Given the description of an element on the screen output the (x, y) to click on. 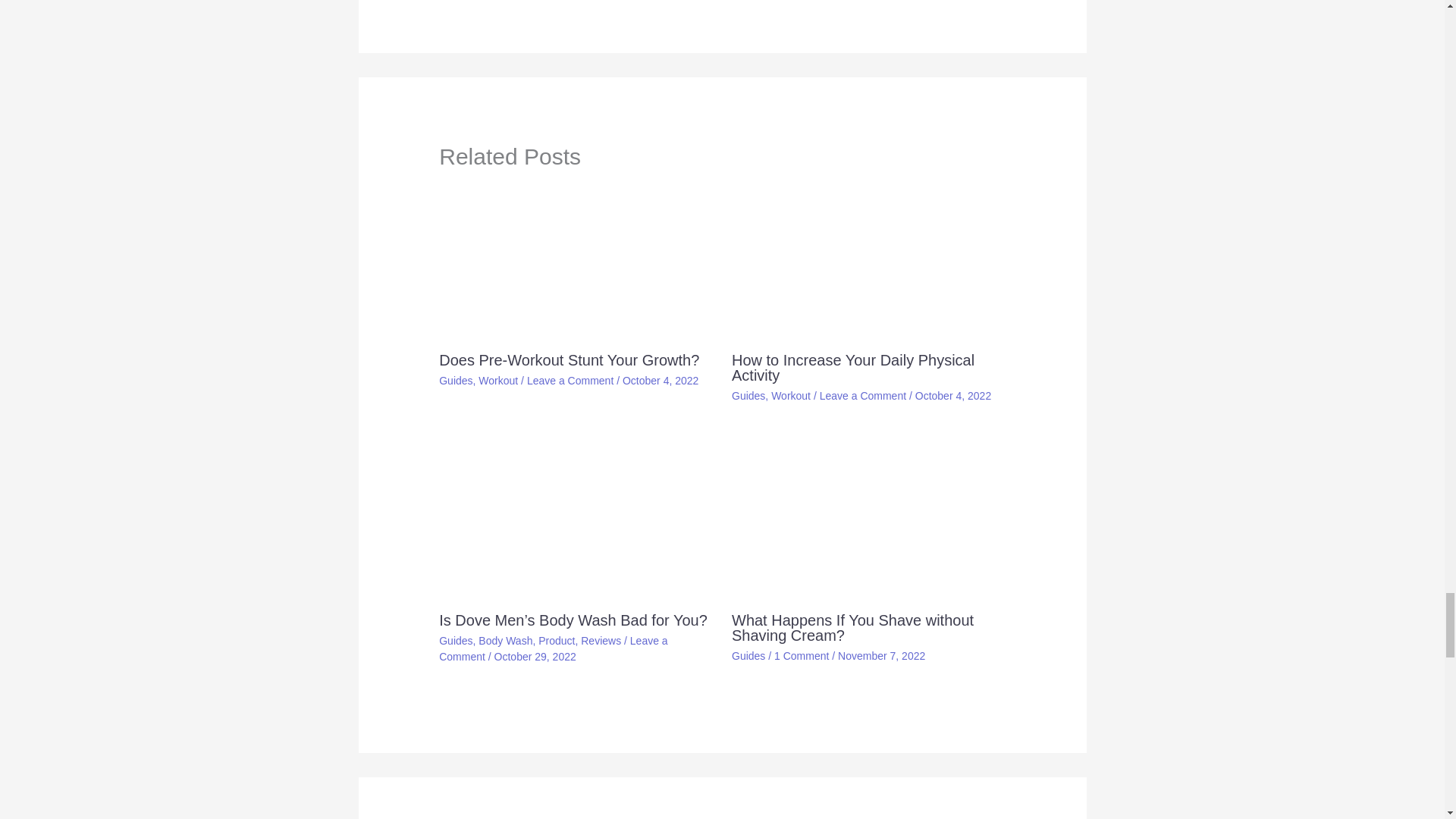
Workout (498, 380)
Guides (455, 380)
Does Pre-Workout Stunt Your Growth? (568, 360)
Leave a Comment (569, 380)
Guides (748, 395)
How to Increase Your Daily Physical Activity (853, 368)
